Given the description of an element on the screen output the (x, y) to click on. 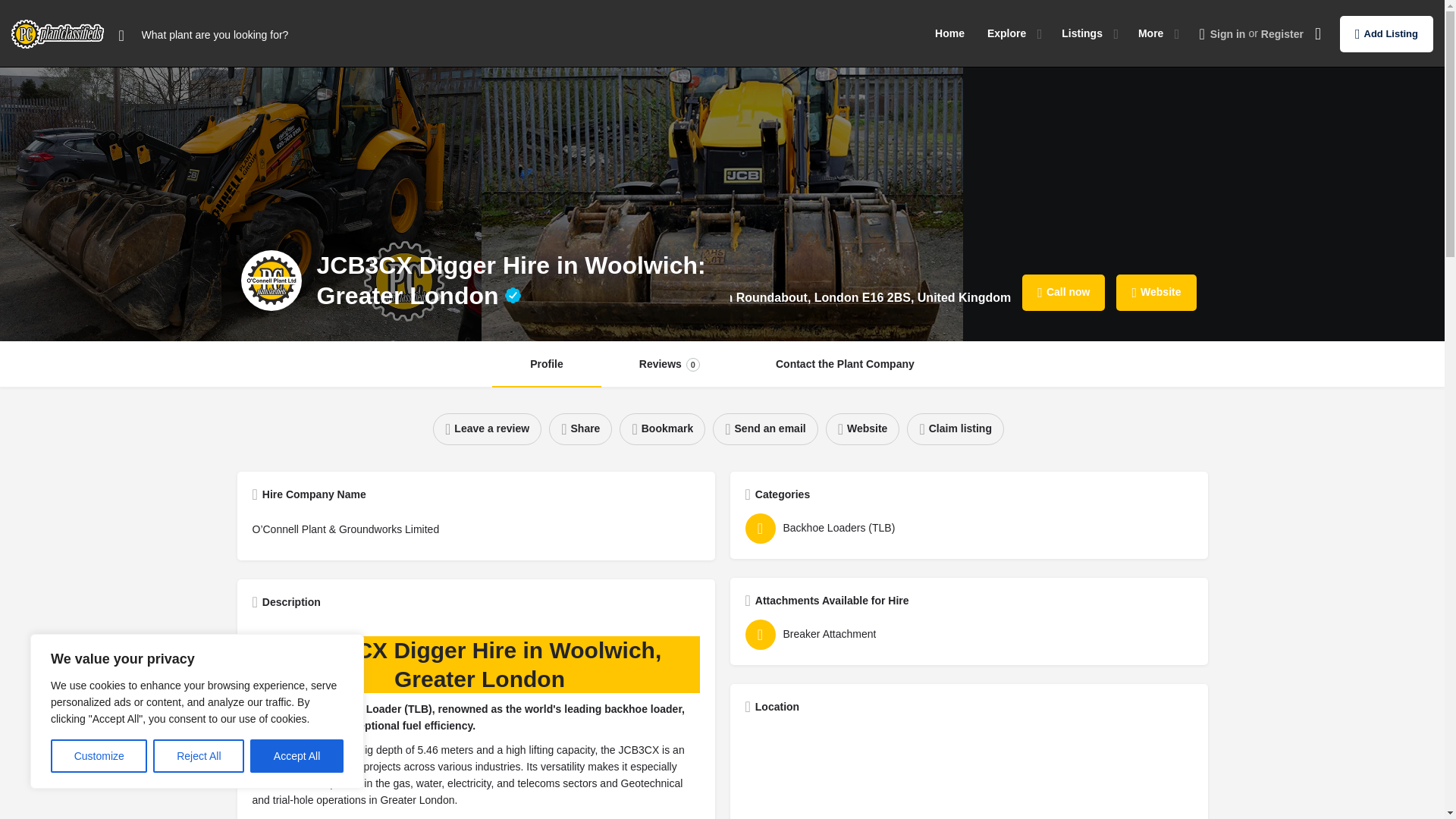
More (1150, 32)
Accept All (296, 756)
Reject All (198, 756)
Customize (98, 756)
Listings (1081, 32)
Explore (1006, 32)
View your shopping cart (1317, 33)
Home (948, 32)
